Given the description of an element on the screen output the (x, y) to click on. 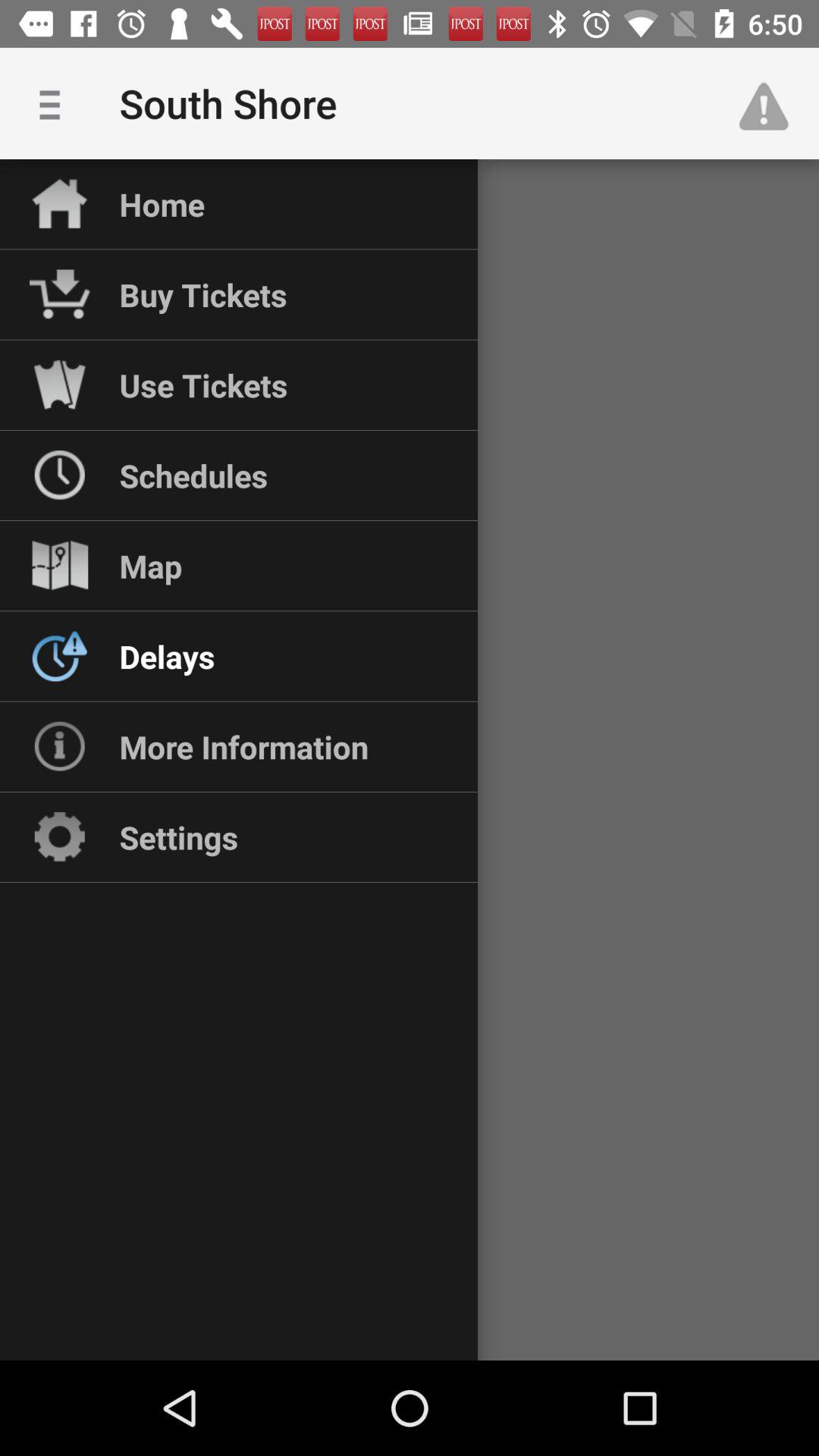
jump to the delays icon (166, 656)
